Given the description of an element on the screen output the (x, y) to click on. 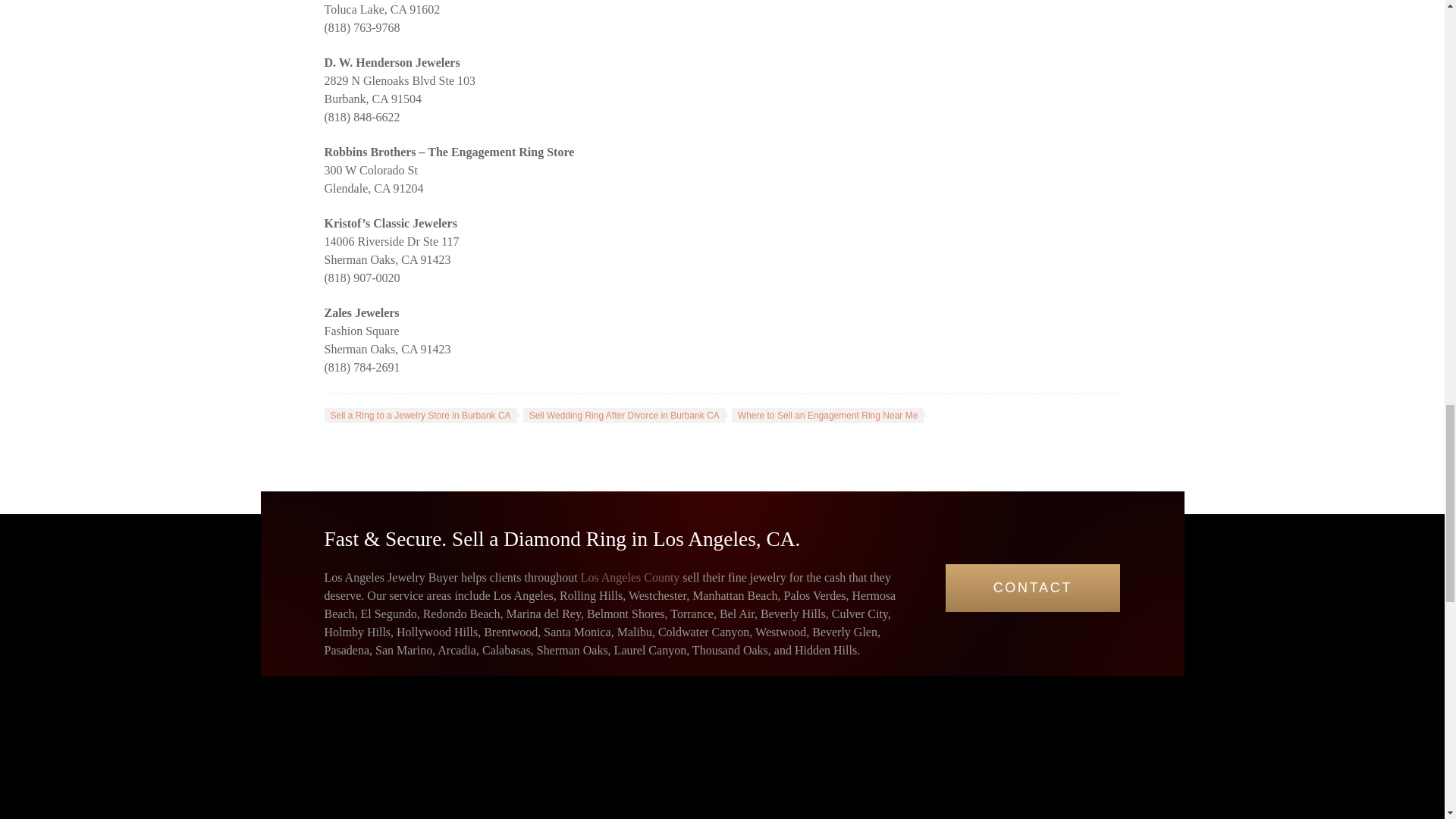
Los Angeles County (629, 576)
Where to Sell an Engagement Ring Near Me (827, 415)
CONTACT (1031, 587)
Sell Wedding Ring After Divorce in Burbank CA (623, 415)
Sell a Ring to a Jewelry Store in Burbank CA (420, 415)
